Given the description of an element on the screen output the (x, y) to click on. 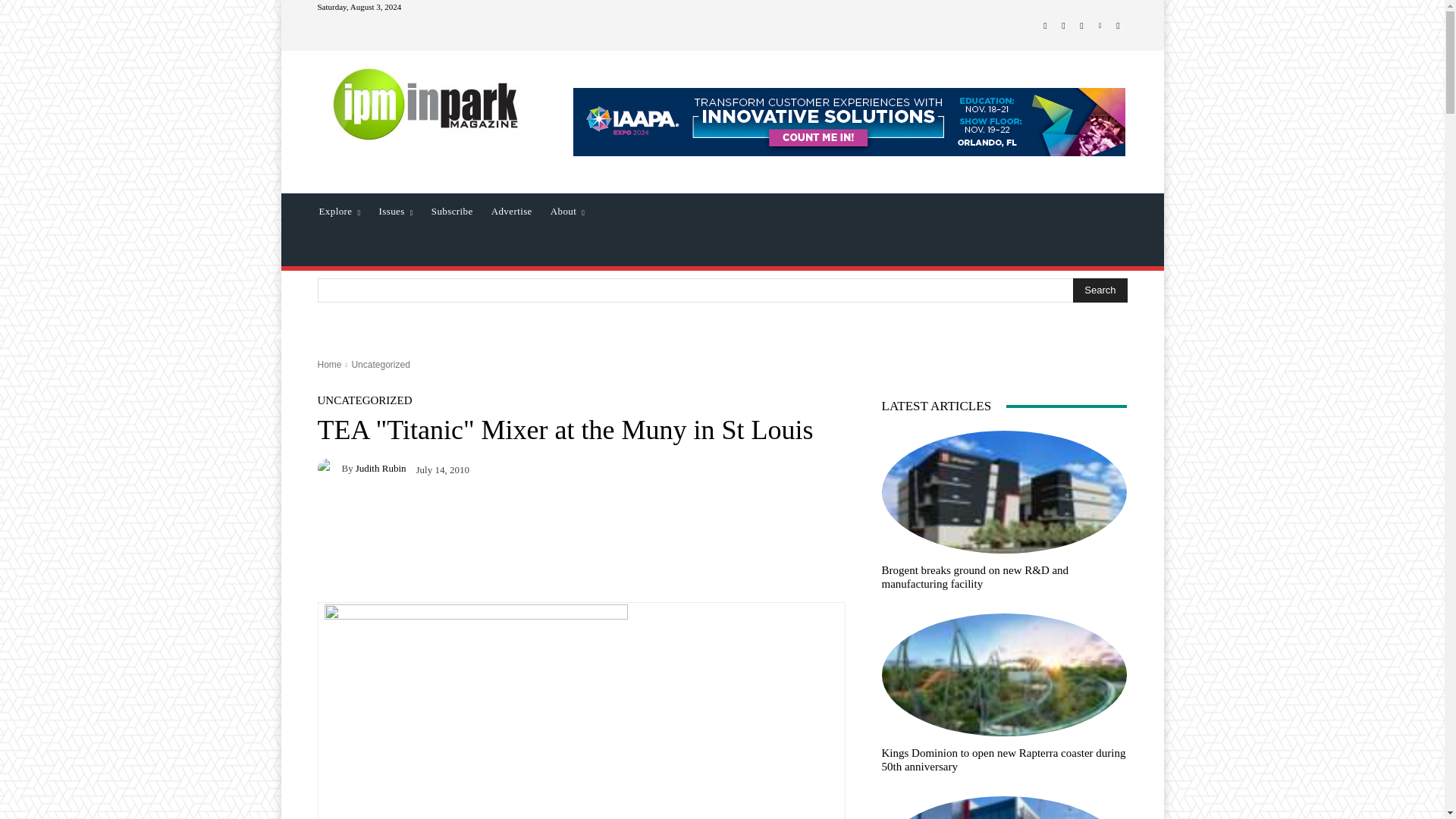
Facebook (1044, 25)
Youtube (1117, 25)
Instagram (1062, 25)
Vimeo (1099, 25)
Twitter (1080, 25)
